Given the description of an element on the screen output the (x, y) to click on. 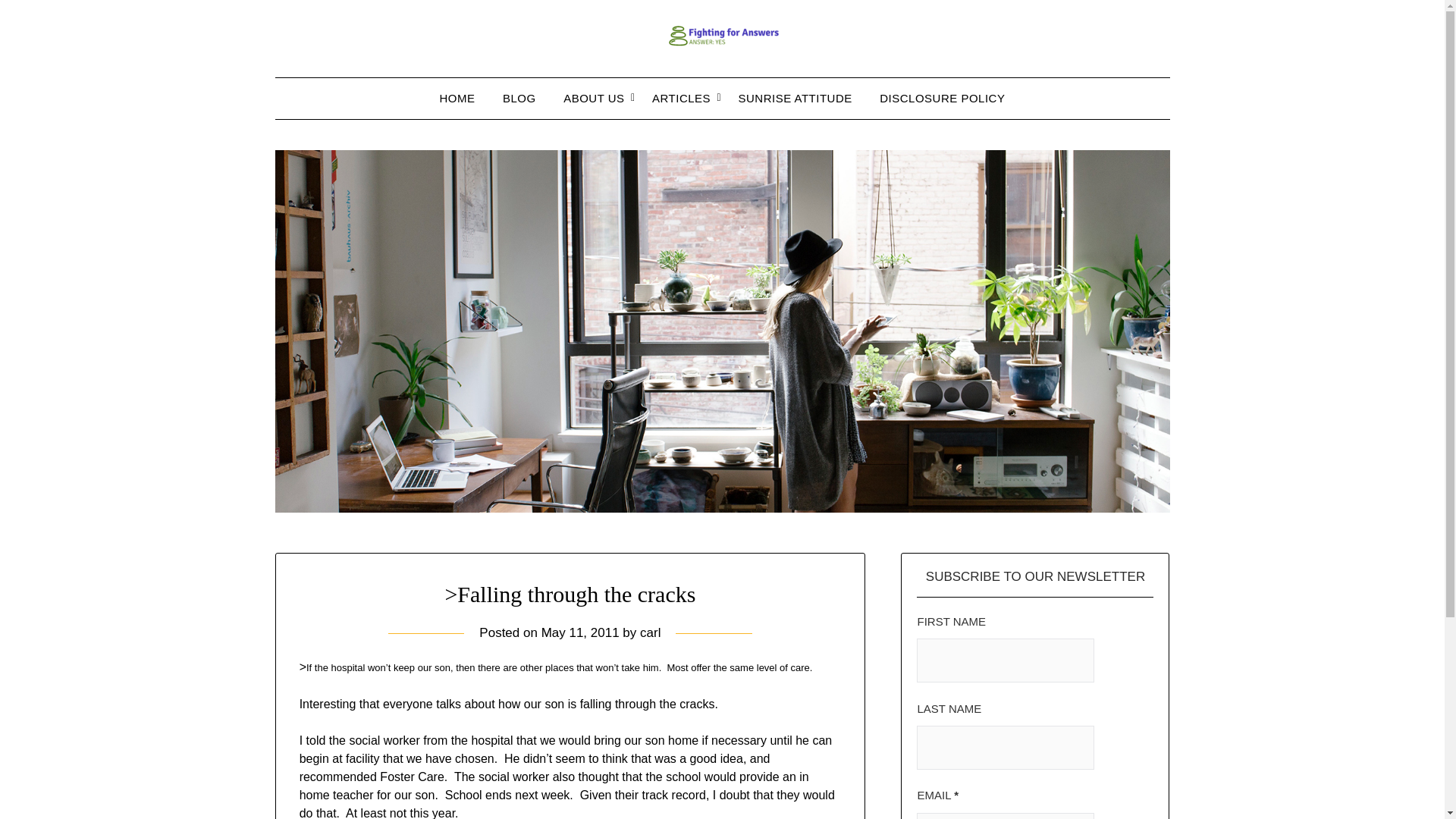
ARTICLES (681, 97)
ABOUT US (593, 97)
HOME (457, 97)
Last name (1005, 747)
SUNRISE ATTITUDE (795, 97)
DISCLOSURE POLICY (941, 97)
BLOG (519, 97)
carl (650, 632)
First name (1005, 660)
May 11, 2011 (580, 632)
Email (1005, 816)
